Given the description of an element on the screen output the (x, y) to click on. 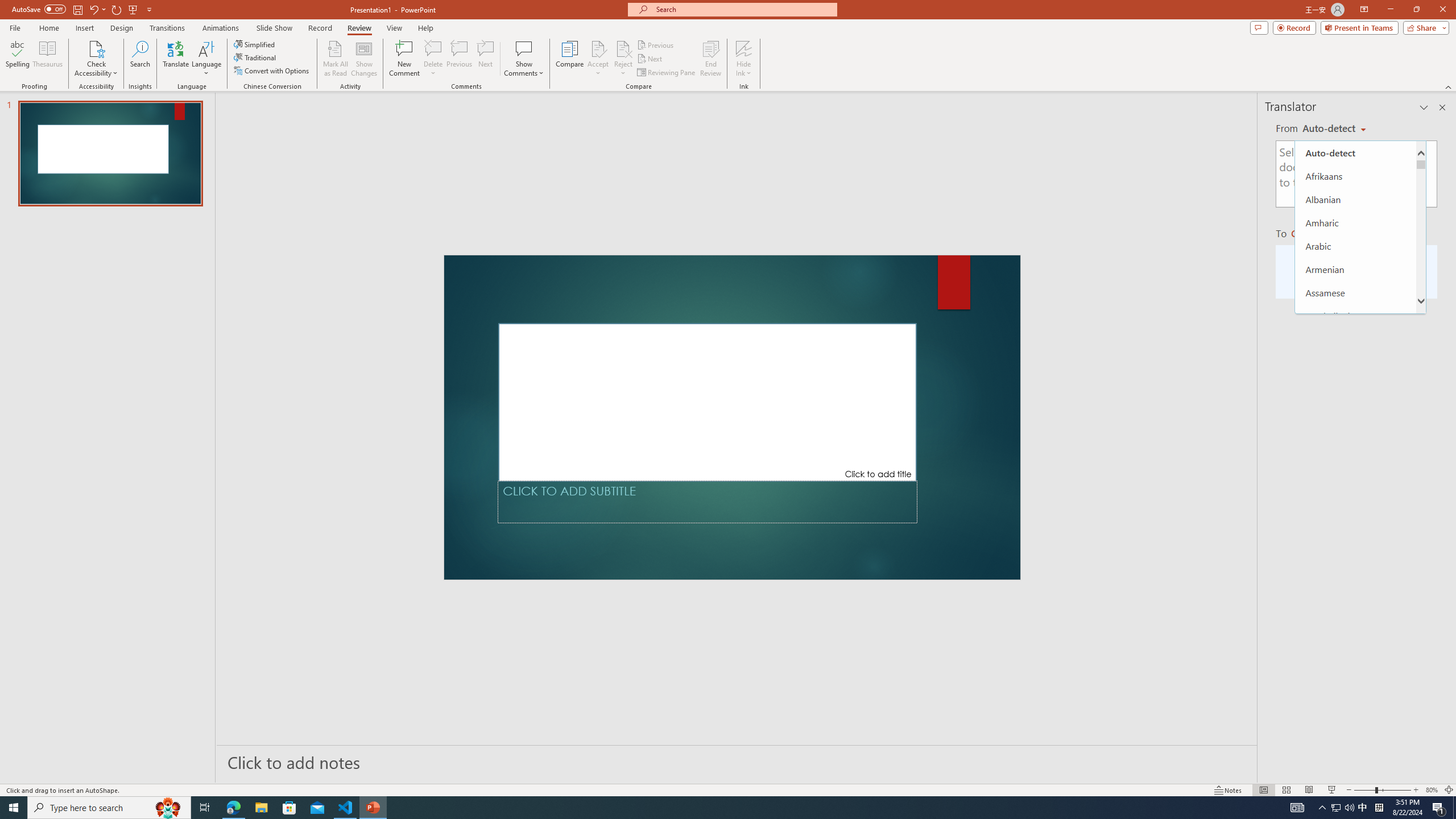
Subtitle TextBox (707, 501)
End Review (710, 58)
Afrikaans (1355, 175)
New Comment (403, 58)
Accept (598, 58)
Cantonese (Traditional) (1355, 501)
Bulgarian (1355, 478)
Show Comments (524, 58)
Next (649, 58)
